Given the description of an element on the screen output the (x, y) to click on. 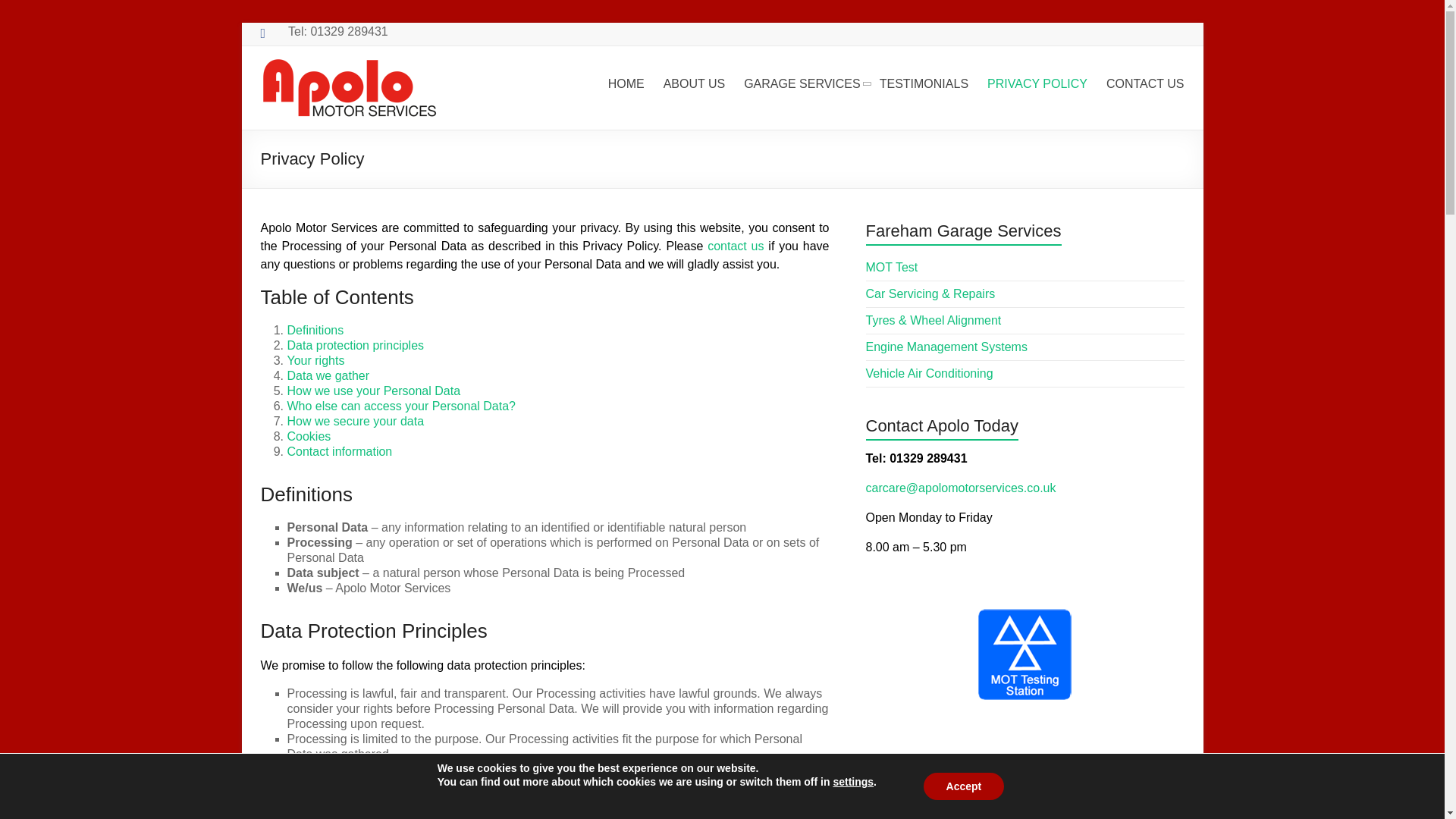
HOME (626, 83)
Your rights (314, 359)
Contact information (338, 451)
contact us (734, 245)
GARAGE SERVICES (802, 83)
How we use your Personal Data (373, 390)
Data we gather (327, 375)
Data protection principles (354, 345)
Who else can access your Personal Data? (400, 405)
